Given the description of an element on the screen output the (x, y) to click on. 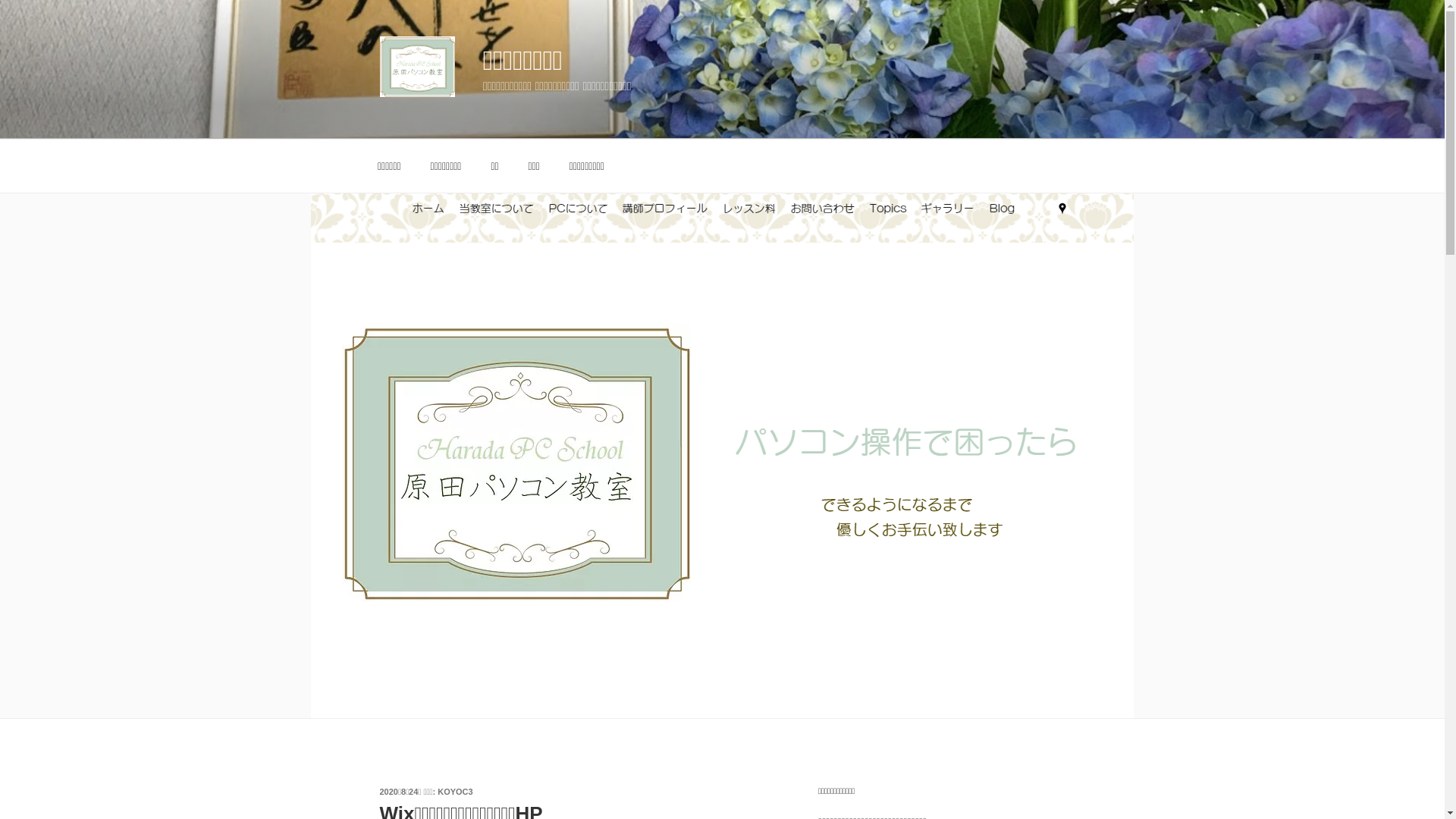
KOYOC3 Element type: text (454, 791)
